Given the description of an element on the screen output the (x, y) to click on. 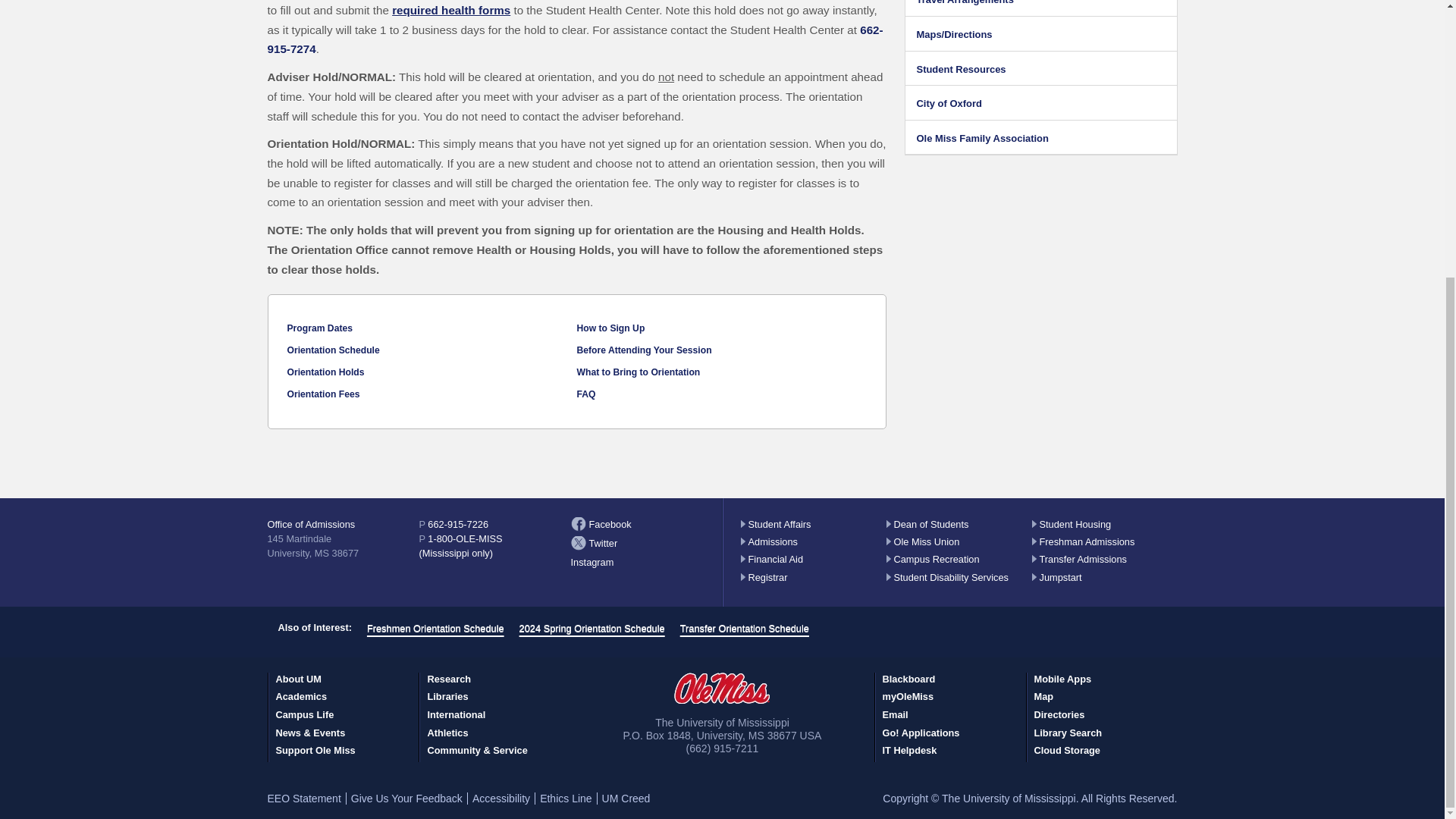
FFM-Program Dates (319, 327)
